Given the description of an element on the screen output the (x, y) to click on. 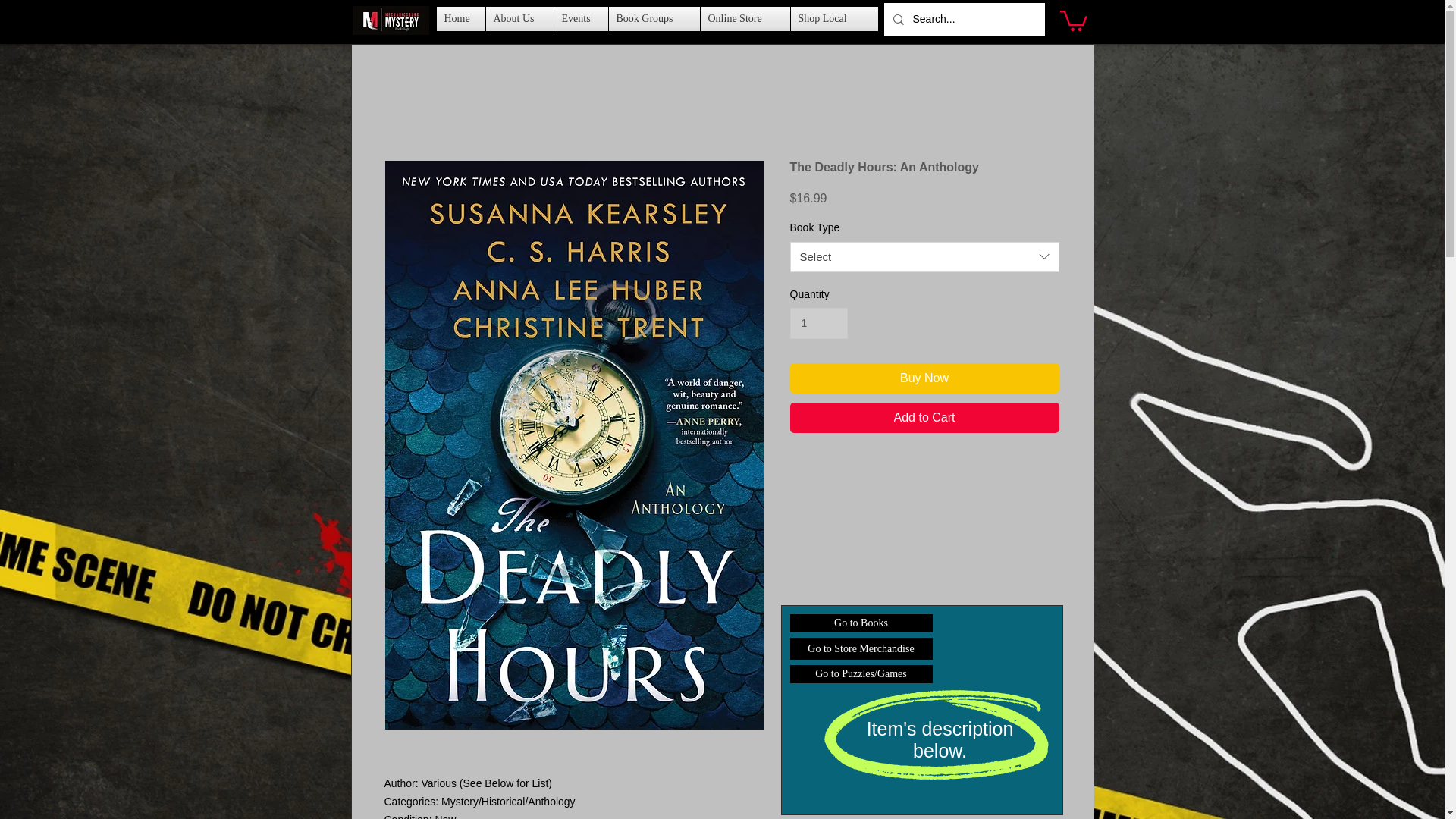
1 (818, 323)
Home (460, 18)
Shop Local (829, 18)
Go to Books (861, 623)
Online Store (745, 18)
About Us (518, 18)
Go to Store Merchandise (861, 649)
